Given the description of an element on the screen output the (x, y) to click on. 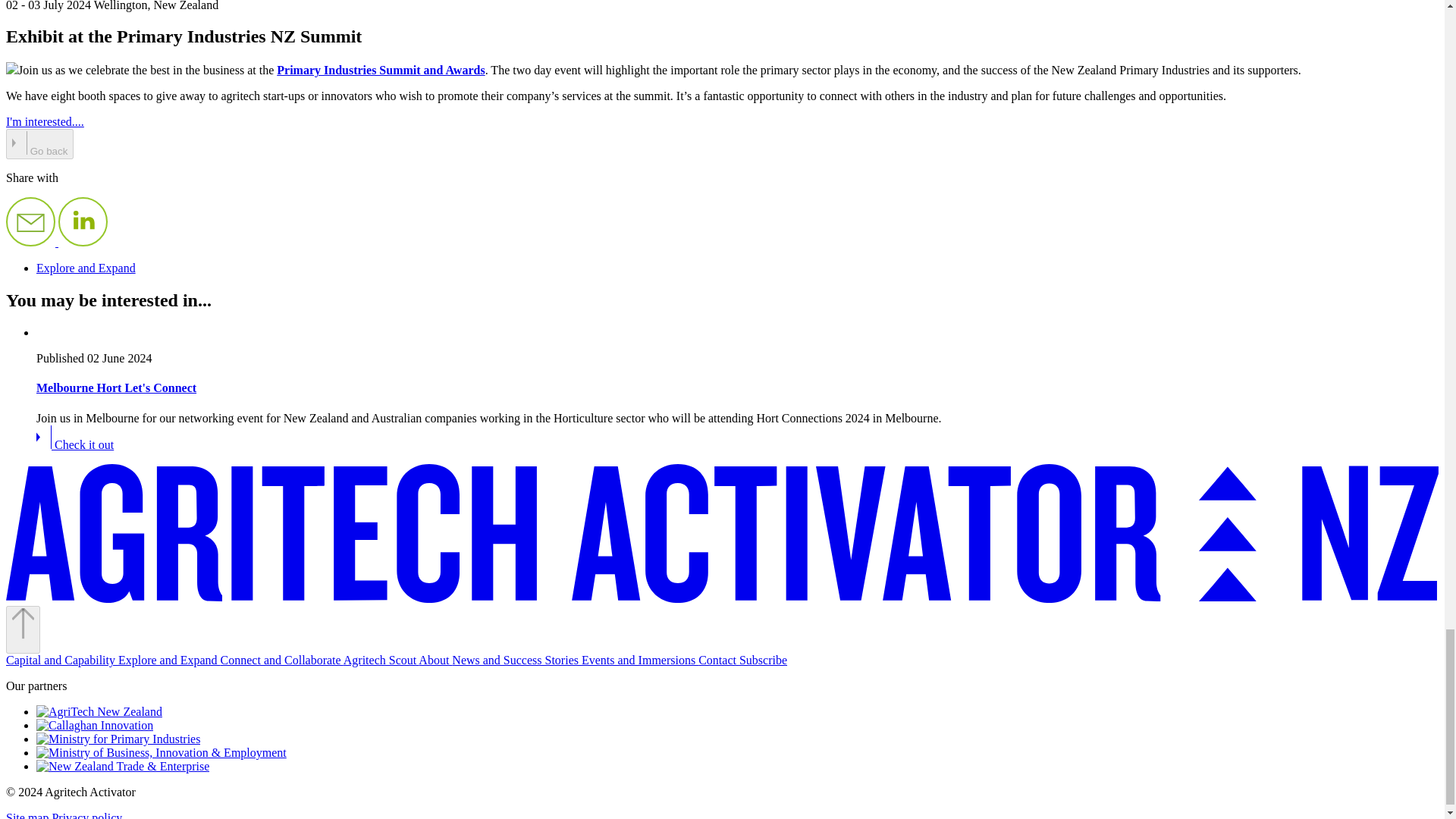
Melbourne Hort Let's Connect (74, 444)
Connect and Collaborate (282, 659)
Events and Immersions (639, 659)
News and Success Stories (515, 659)
Go back (39, 143)
I'm interested.... (44, 121)
Agritech Scout (381, 659)
Check it out (74, 444)
Explore and Expand (169, 659)
Explore and Expand (85, 267)
Primary Industries Summit and Awards (380, 69)
Subscribe (763, 659)
Capital and Capability (61, 659)
About (435, 659)
Share with Email (31, 241)
